Given the description of an element on the screen output the (x, y) to click on. 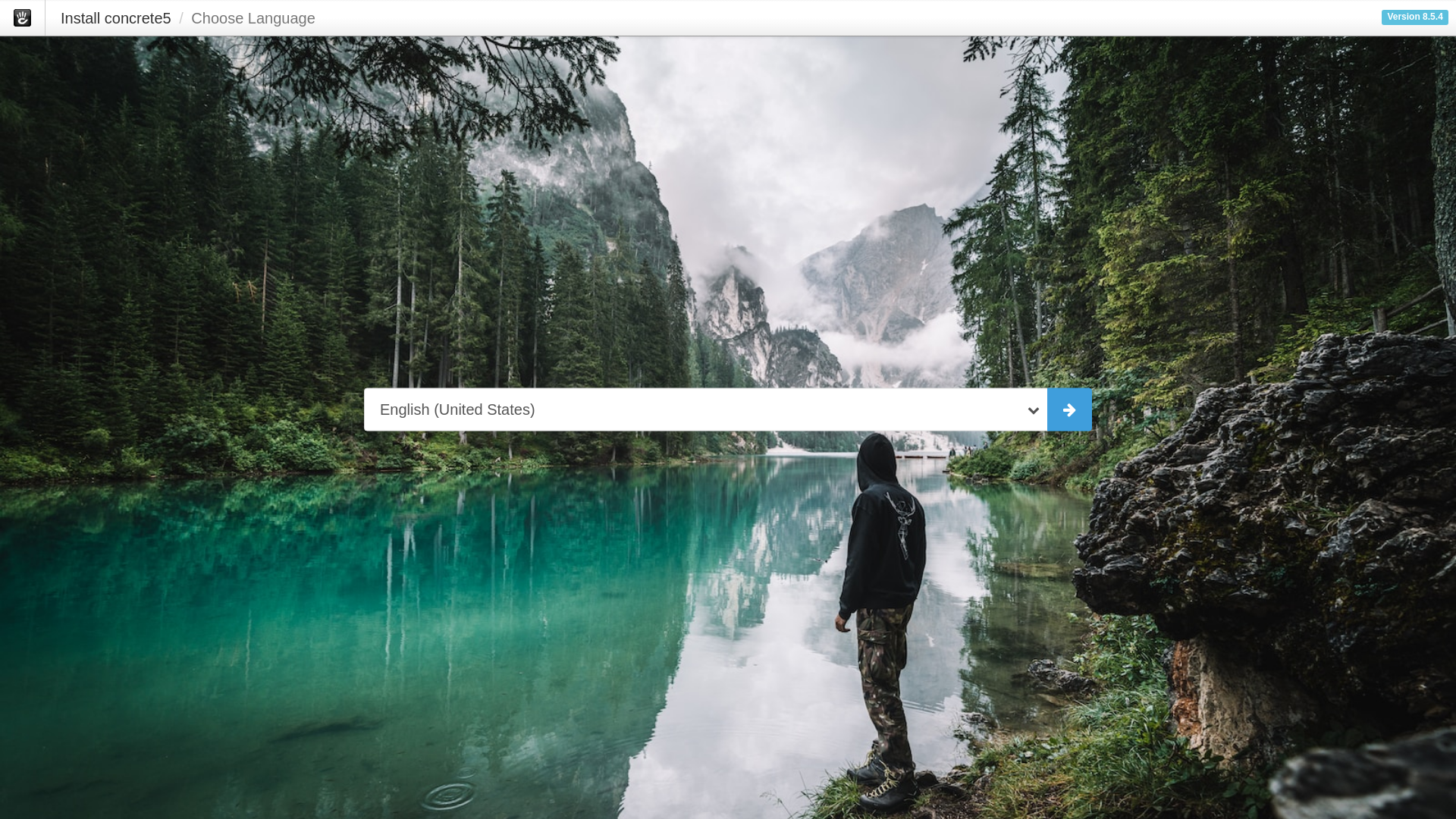
concrete5 Element type: hover (22, 17)
